Given the description of an element on the screen output the (x, y) to click on. 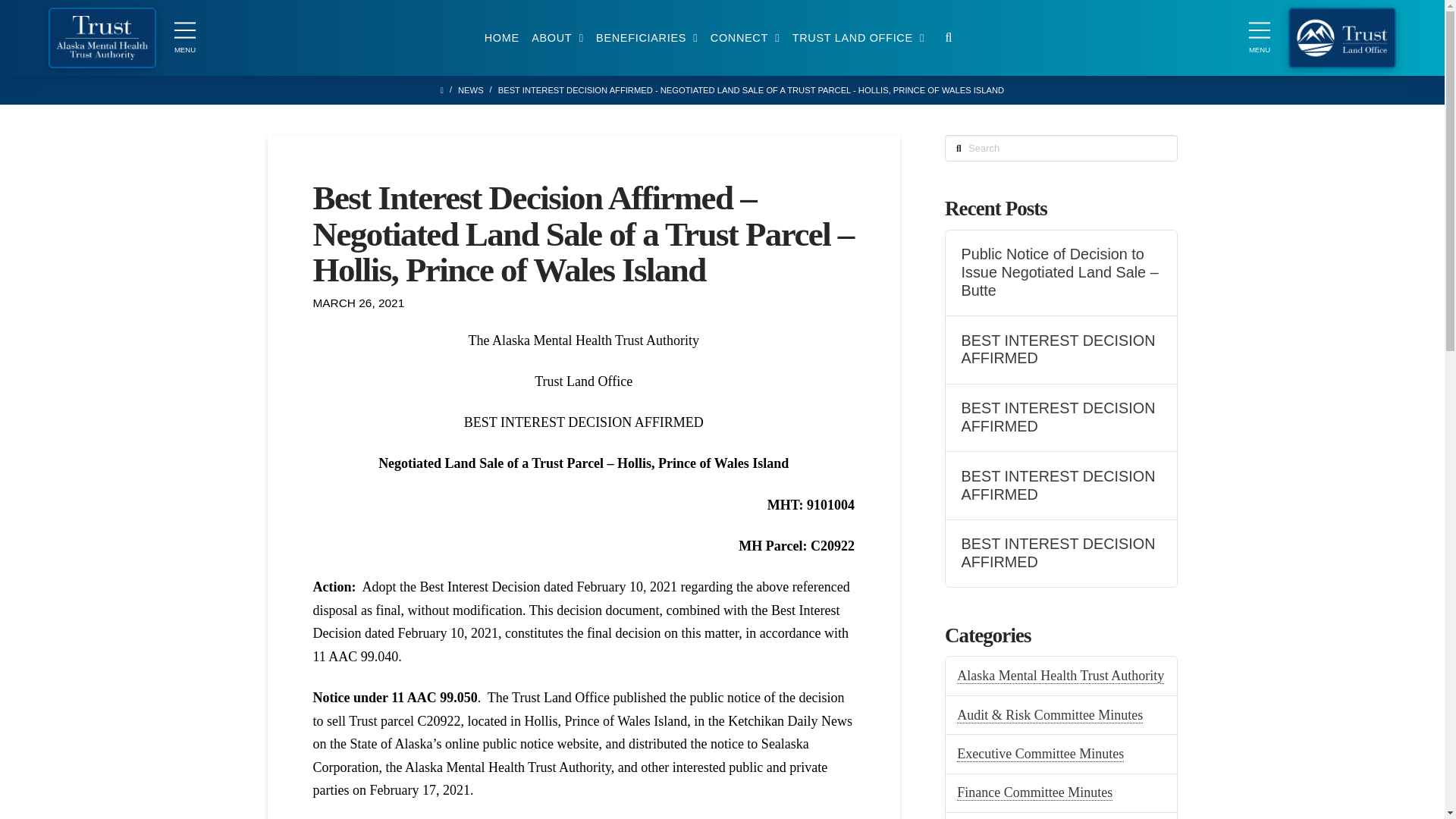
BENEFICIARIES (646, 37)
You Are Here (750, 90)
ABOUT (557, 37)
CONNECT (744, 37)
HOME (501, 37)
TRUST LAND OFFICE (858, 37)
